Given the description of an element on the screen output the (x, y) to click on. 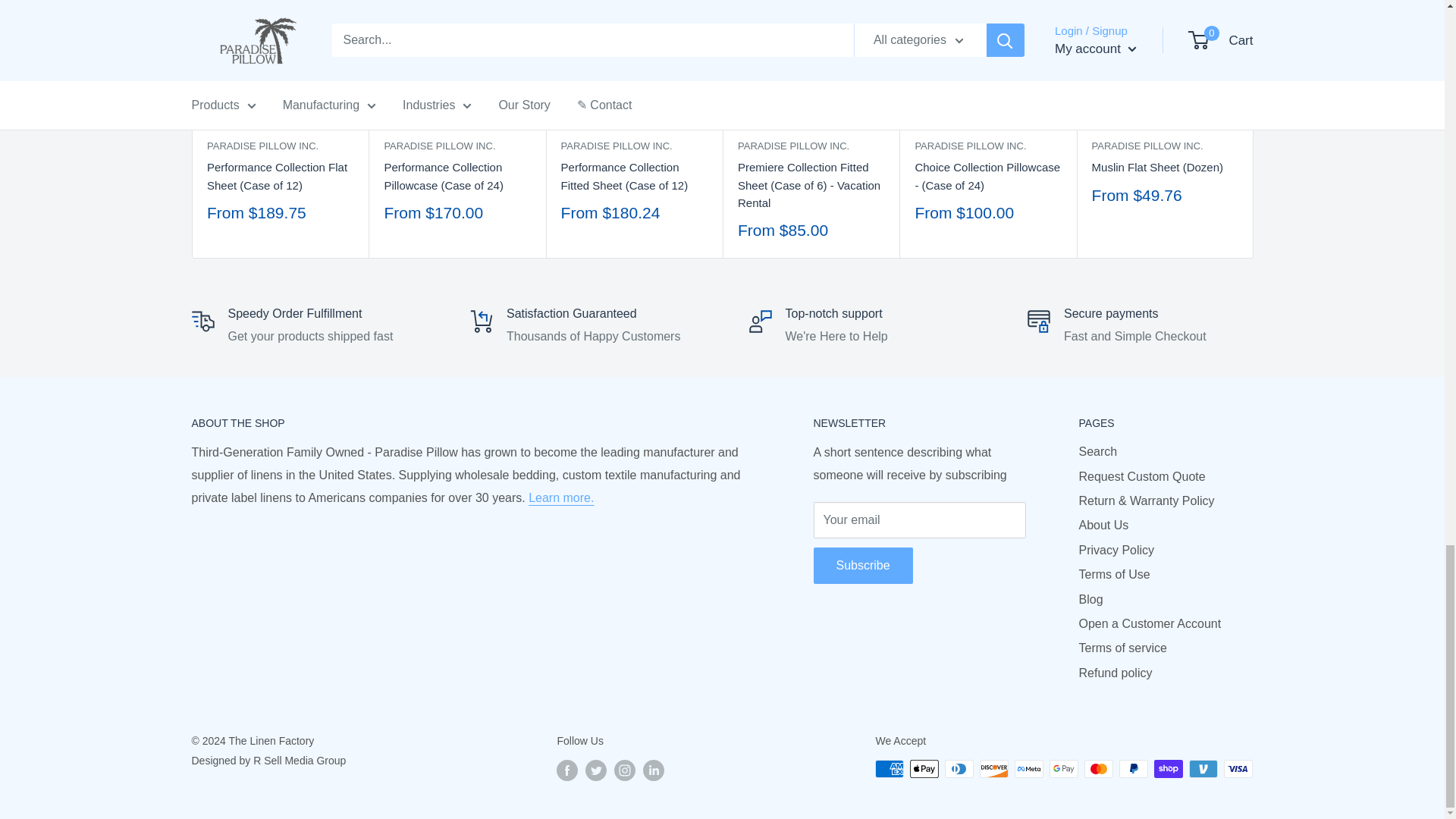
About Us (561, 497)
